Given the description of an element on the screen output the (x, y) to click on. 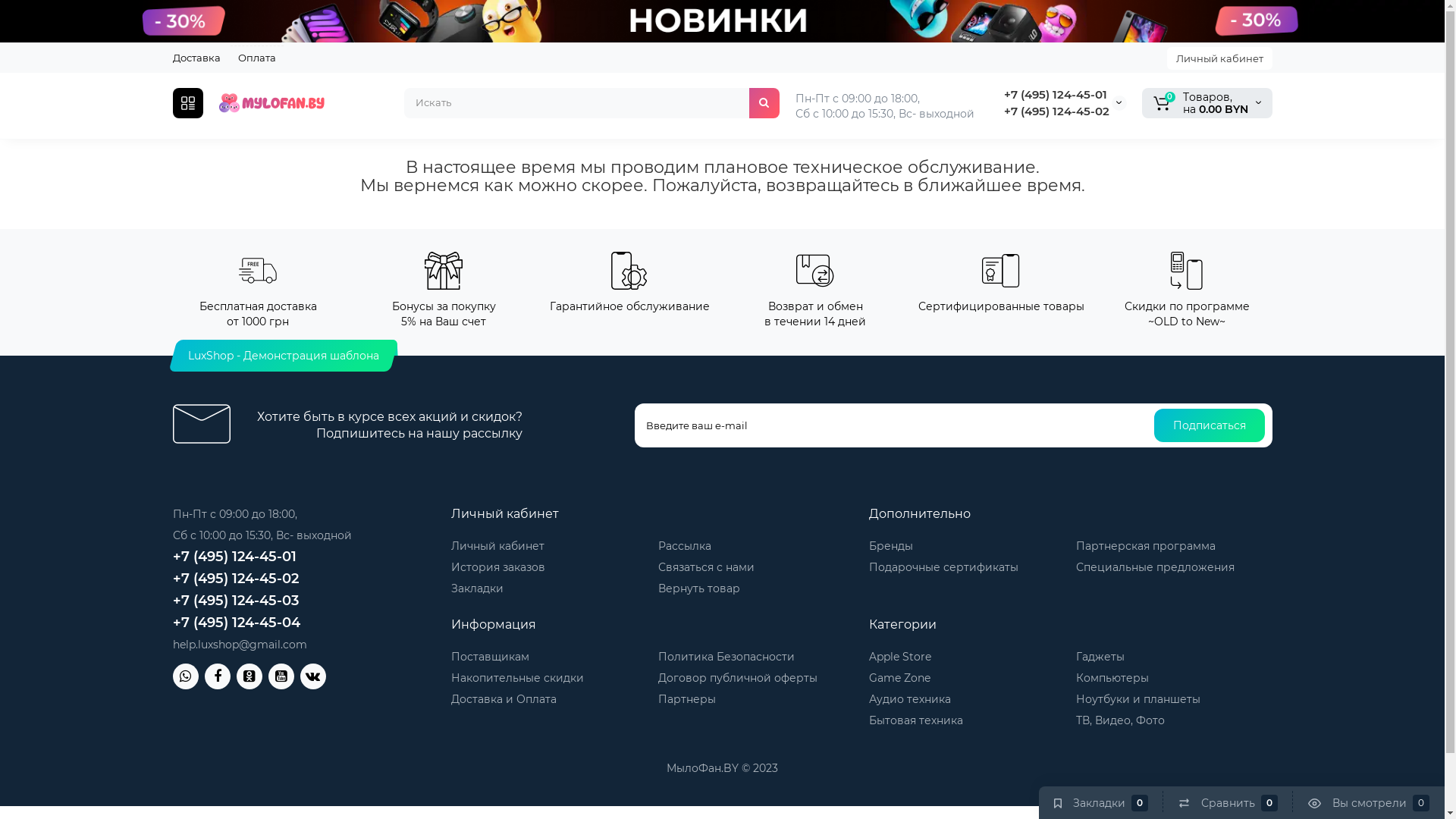
+7 (495) 124-45-02 Element type: text (1056, 110)
Game Zone Element type: text (899, 677)
Apple Store Element type: text (900, 656)
+7 (495) 124-45-01 Element type: text (1055, 94)
